Given the description of an element on the screen output the (x, y) to click on. 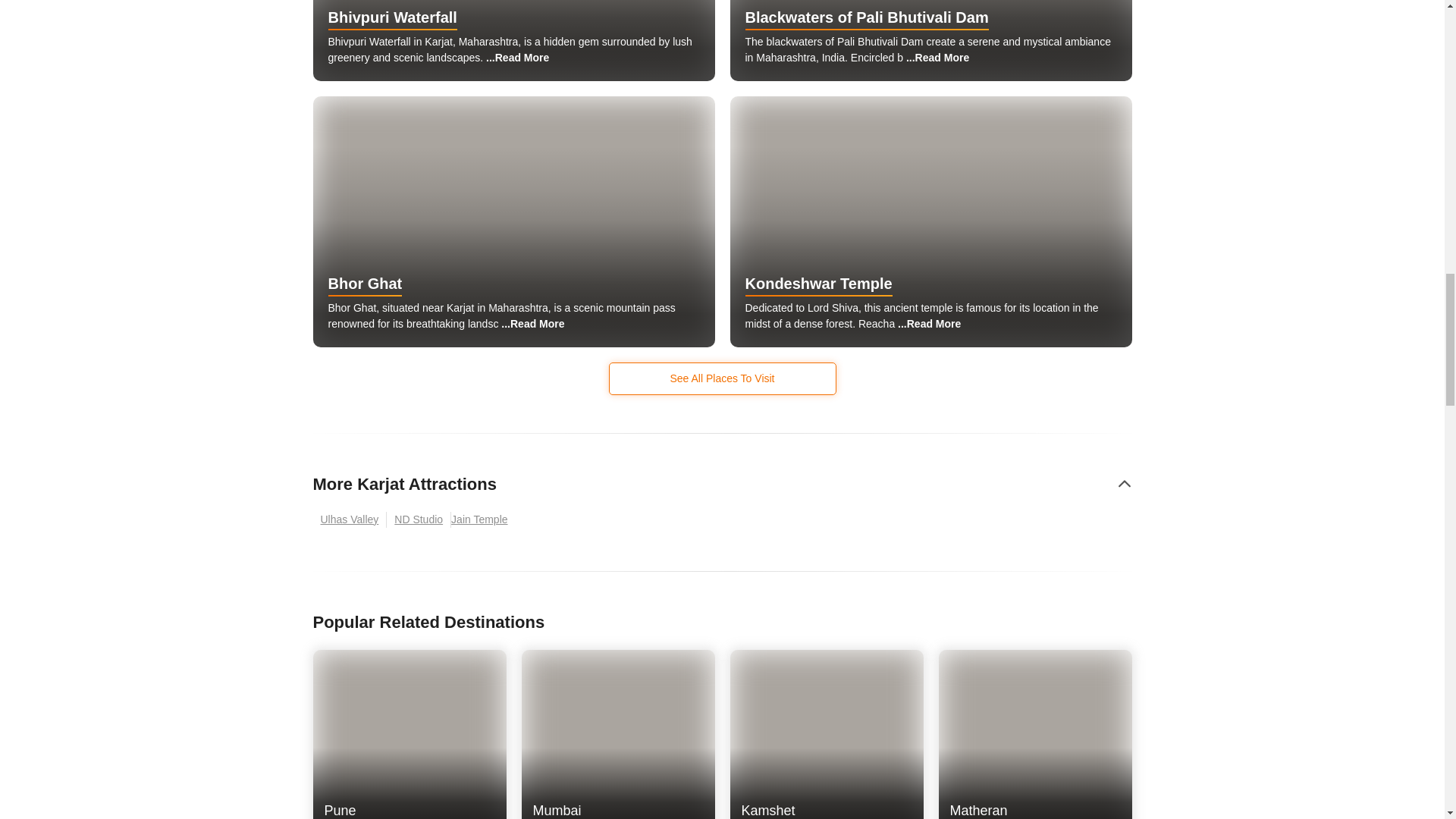
Jain Temple (483, 519)
See All Places To Visit (409, 811)
Ulhas Valley (617, 811)
ND Studio (721, 378)
